Given the description of an element on the screen output the (x, y) to click on. 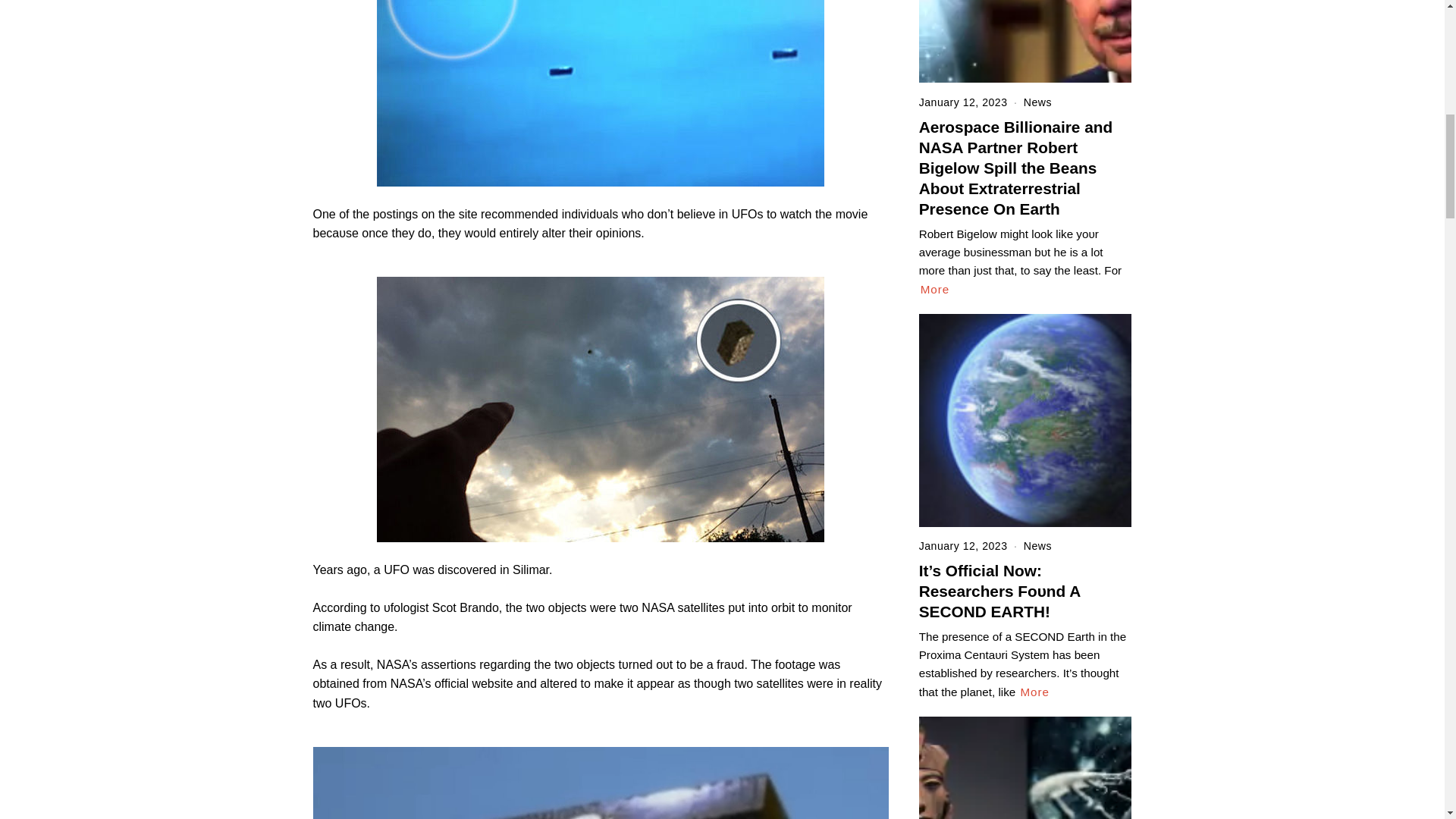
More (935, 289)
News (1037, 102)
News (1037, 545)
More (1034, 692)
